Given the description of an element on the screen output the (x, y) to click on. 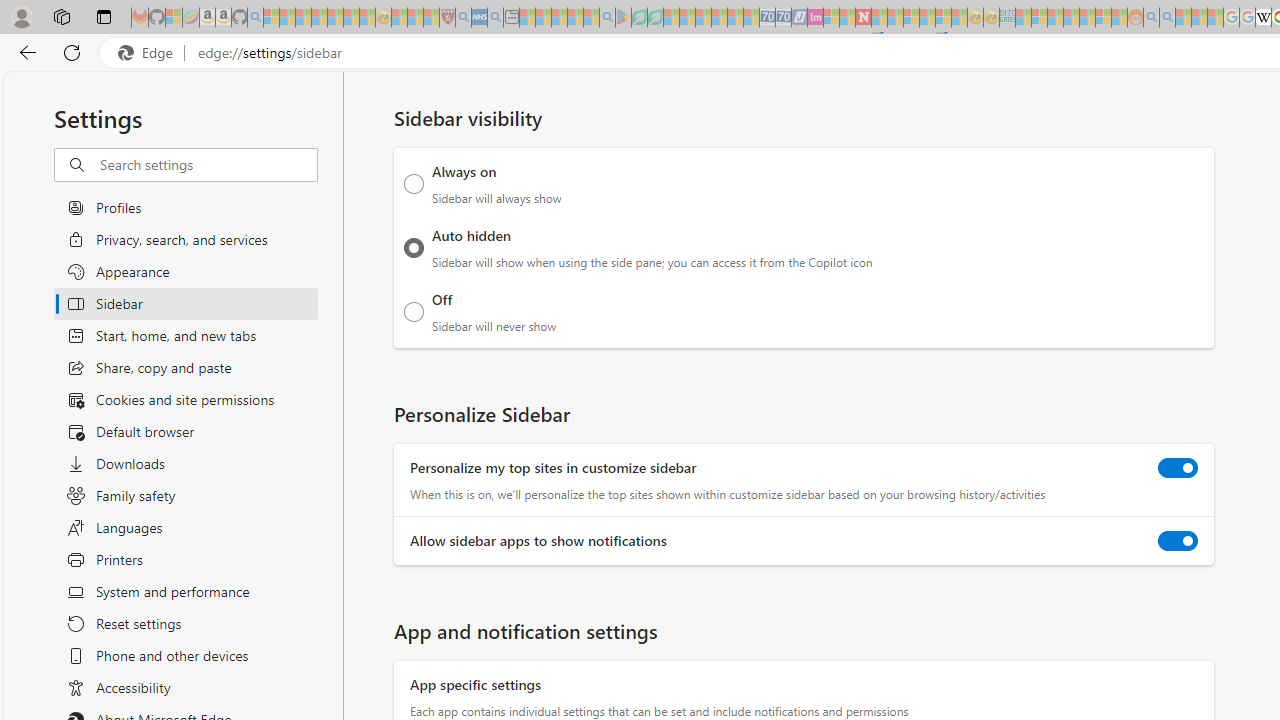
Kinda Frugal - MSN - Sleeping (1087, 17)
Off Sidebar will never show (413, 311)
google - Search - Sleeping (607, 17)
